Given the description of an element on the screen output the (x, y) to click on. 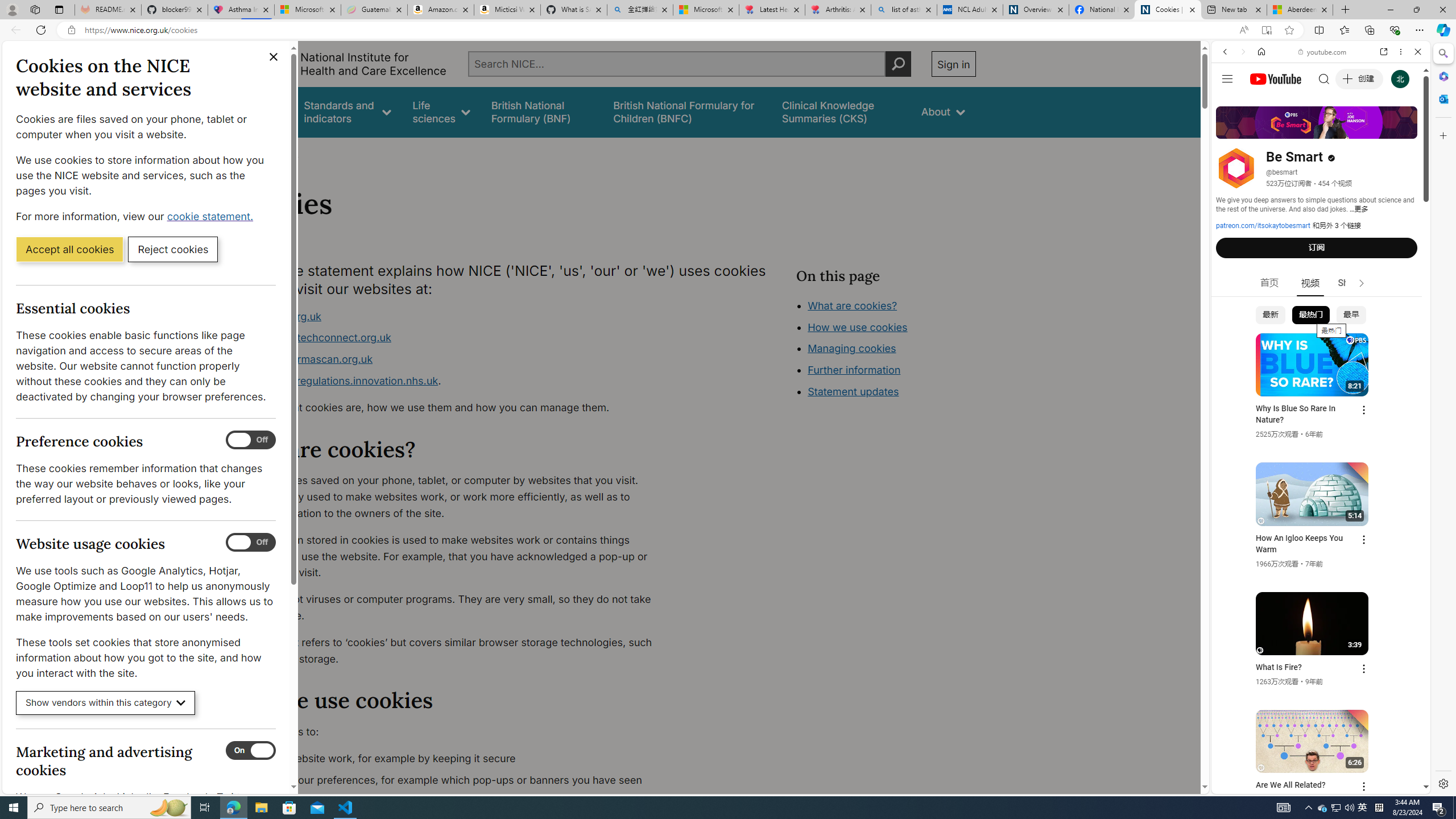
Class: in-page-nav__list (884, 349)
YouTube - YouTube (1315, 560)
you (1315, 755)
